Given the description of an element on the screen output the (x, y) to click on. 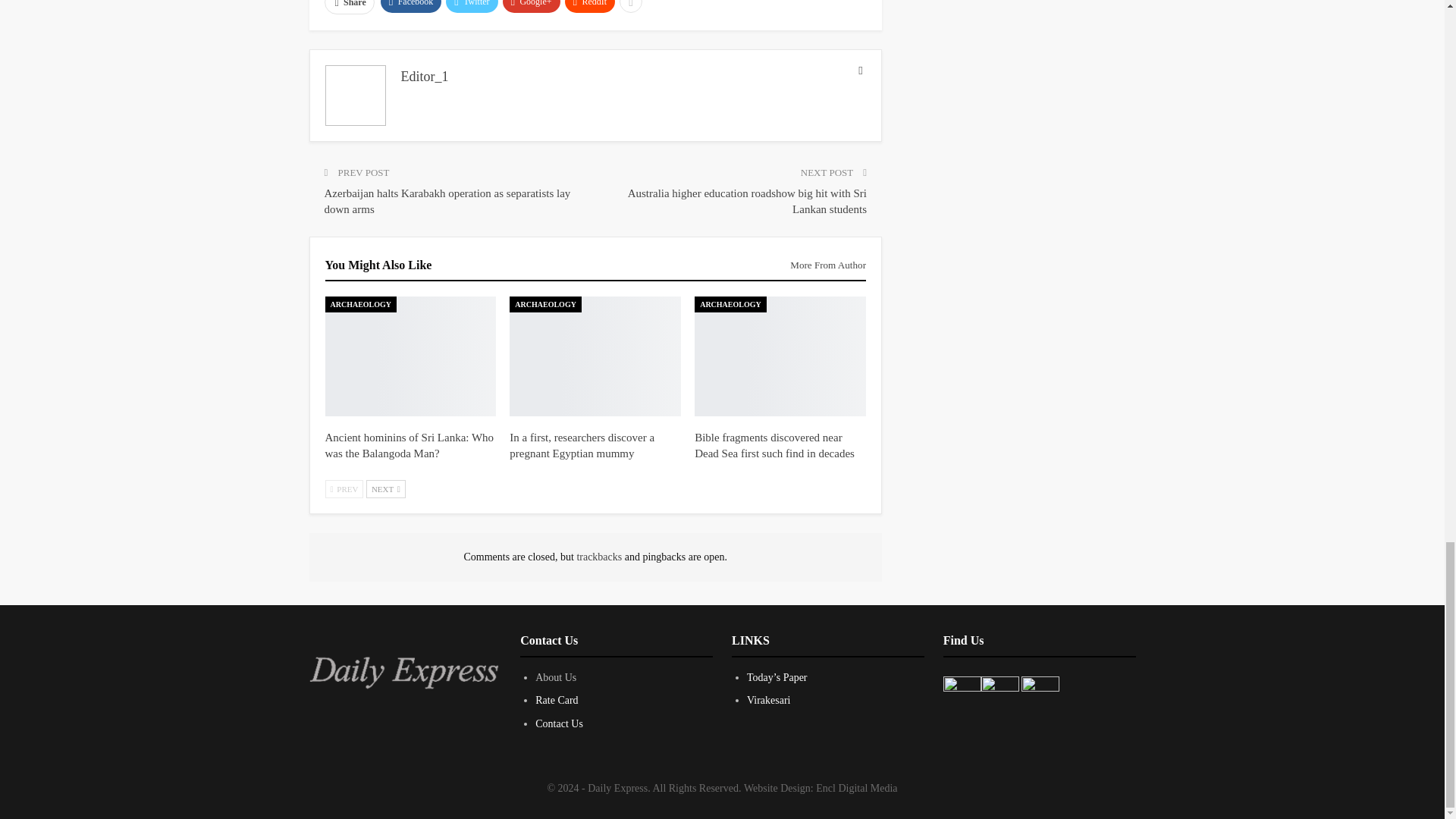
Ancient hominins of Sri Lanka: Who was the Balangoda Man? (410, 356)
Ancient hominins of Sri Lanka: Who was the Balangoda Man? (408, 445)
In a first, researchers discover a pregnant Egyptian mummy (581, 445)
In a first, researchers discover a pregnant Egyptian mummy (595, 356)
Previous (343, 488)
Next (386, 488)
